Given the description of an element on the screen output the (x, y) to click on. 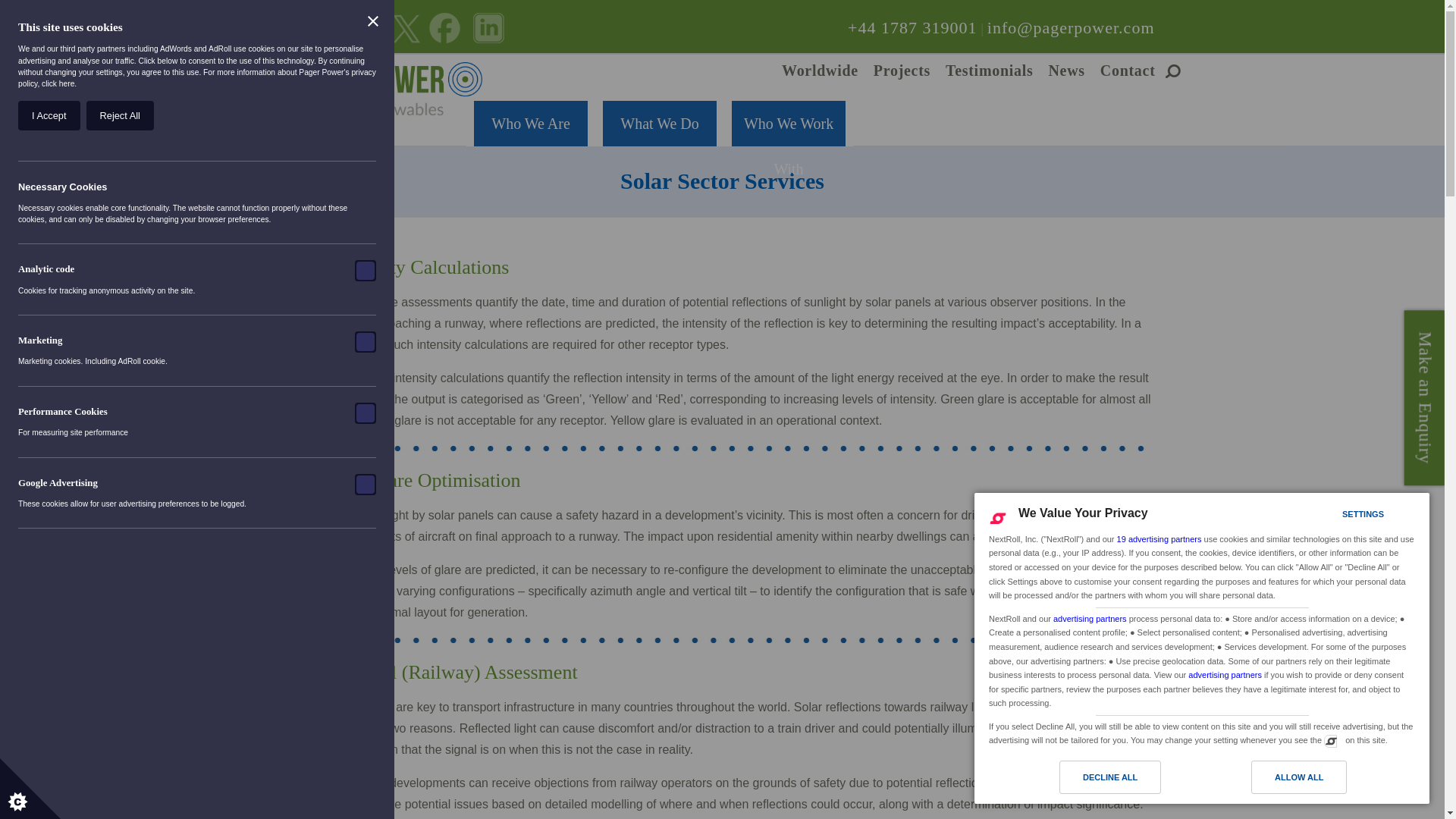
Worldwide (820, 70)
Testimonials (989, 70)
News (1066, 70)
Contact (1128, 70)
Who We Are (530, 119)
Manage consent preferences (1330, 740)
Projects (901, 70)
